Given the description of an element on the screen output the (x, y) to click on. 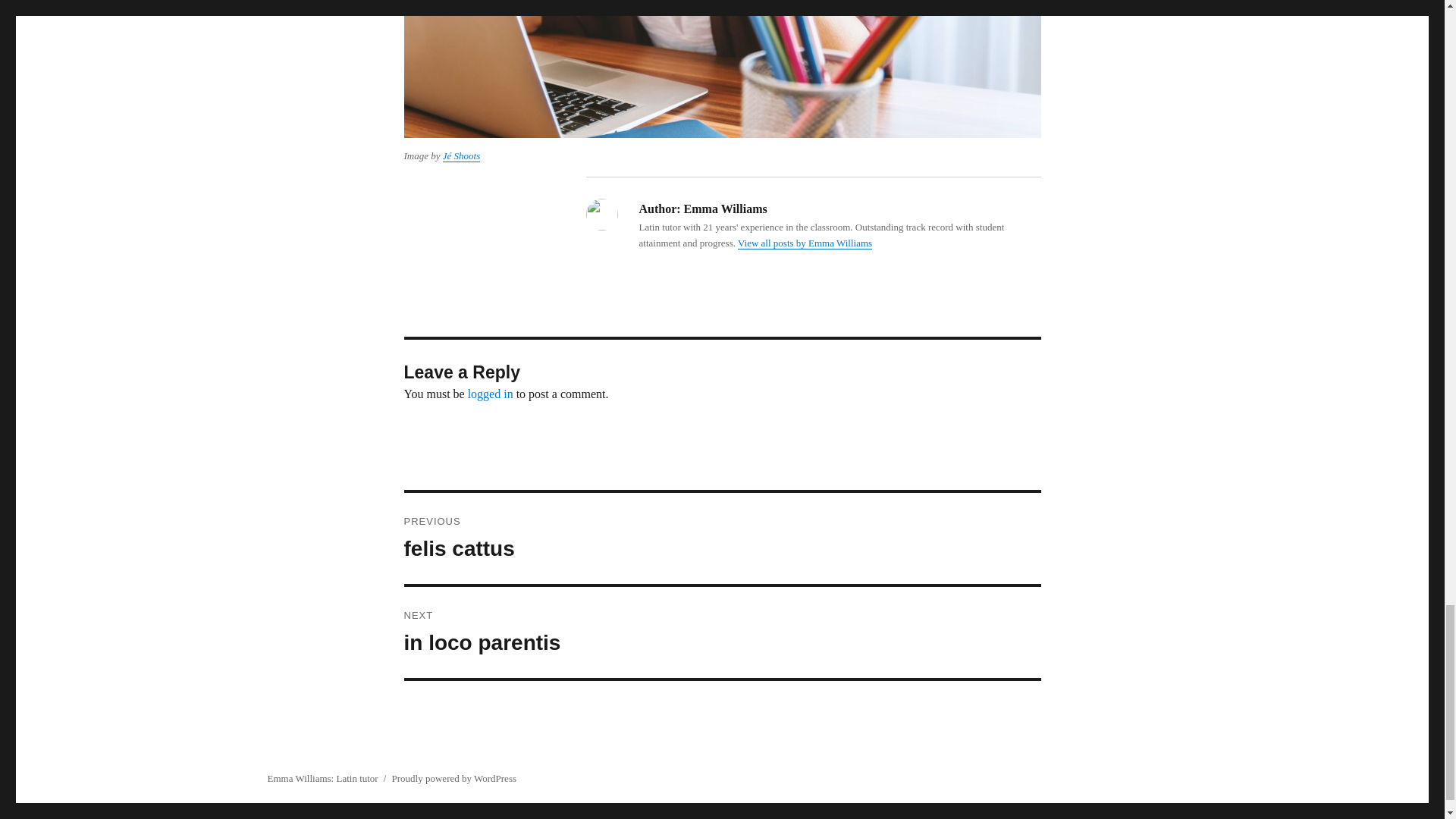
Emma Williams: Latin tutor (722, 632)
Proudly powered by WordPress (321, 778)
logged in (722, 538)
View all posts by Emma Williams (453, 778)
